Given the description of an element on the screen output the (x, y) to click on. 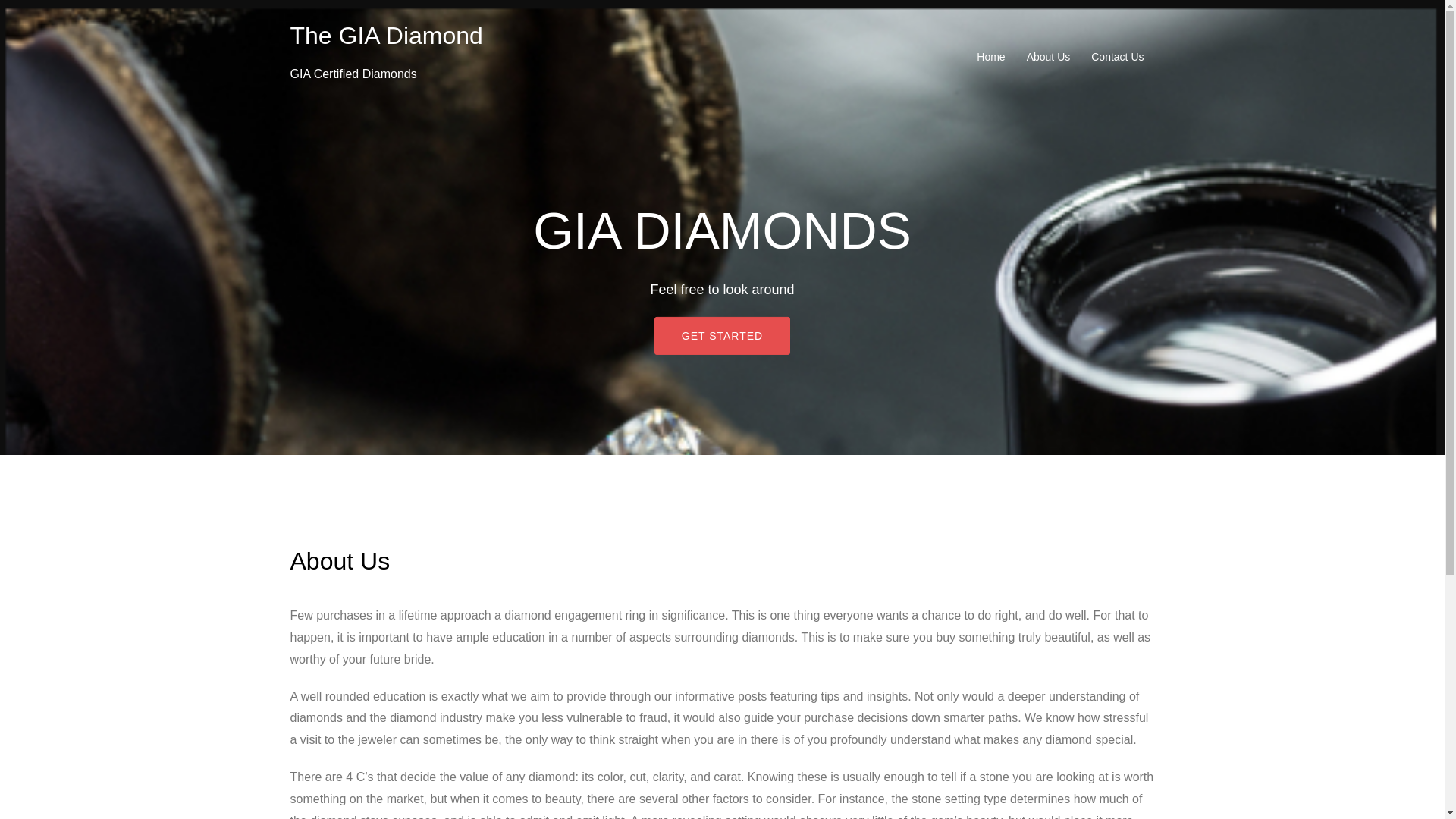
Home (990, 56)
Contact Us (1116, 56)
About Us (1048, 56)
The GIA Diamond (385, 35)
GET STARTED (721, 335)
